Given the description of an element on the screen output the (x, y) to click on. 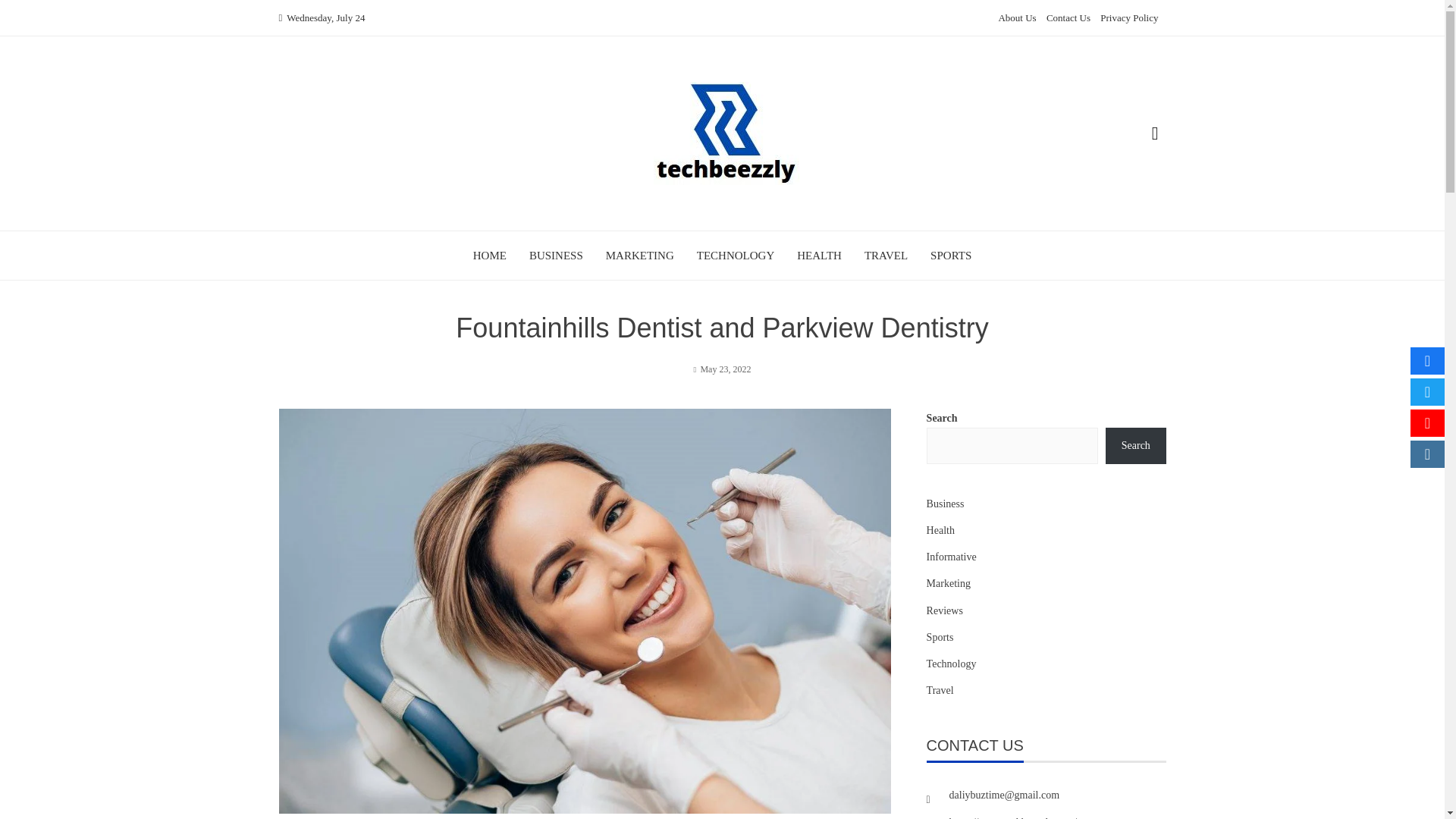
MARKETING (639, 255)
Technology (951, 663)
Travel (939, 690)
SPORTS (950, 255)
Reviews (944, 610)
Marketing (948, 583)
TECHNOLOGY (735, 255)
TRAVEL (885, 255)
HEALTH (818, 255)
Health (940, 529)
HOME (489, 255)
Search (1135, 445)
Sports (939, 637)
Informative (951, 556)
Privacy Policy (1128, 17)
